Given the description of an element on the screen output the (x, y) to click on. 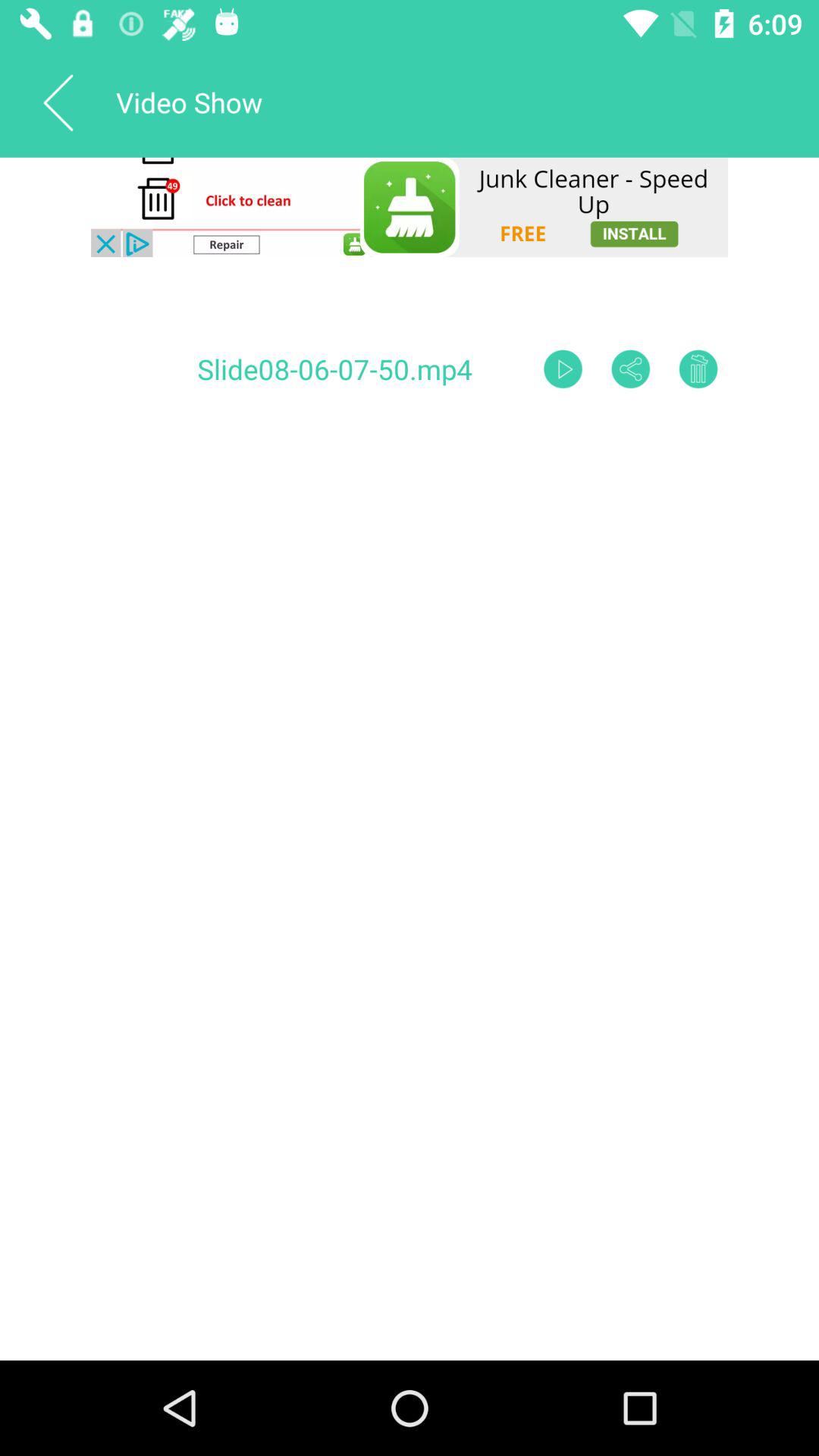
play (562, 369)
